Given the description of an element on the screen output the (x, y) to click on. 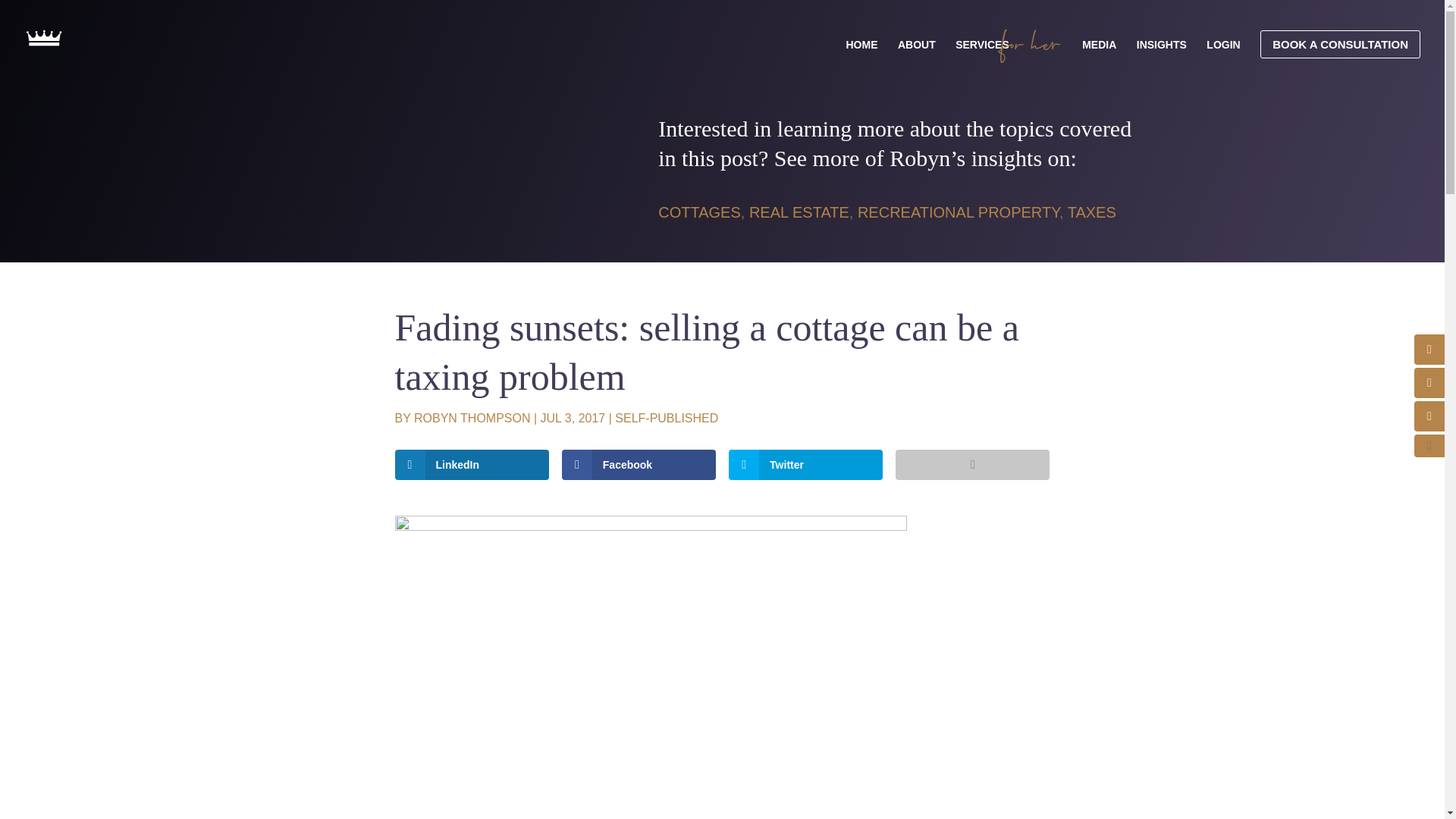
Posts by Robyn Thompson (472, 418)
SELF-PUBLISHED (665, 418)
LinkedIn (471, 464)
LOGIN (1223, 52)
REAL ESTATE (798, 211)
TAXES (1091, 211)
BOOK A CONSULTATION (1340, 44)
ABOUT (917, 52)
Twitter (805, 464)
Facebook (639, 464)
RECREATIONAL PROPERTY (958, 211)
INSIGHTS (1161, 52)
HOME (861, 52)
COTTAGES (699, 211)
SERVICES (982, 52)
